Given the description of an element on the screen output the (x, y) to click on. 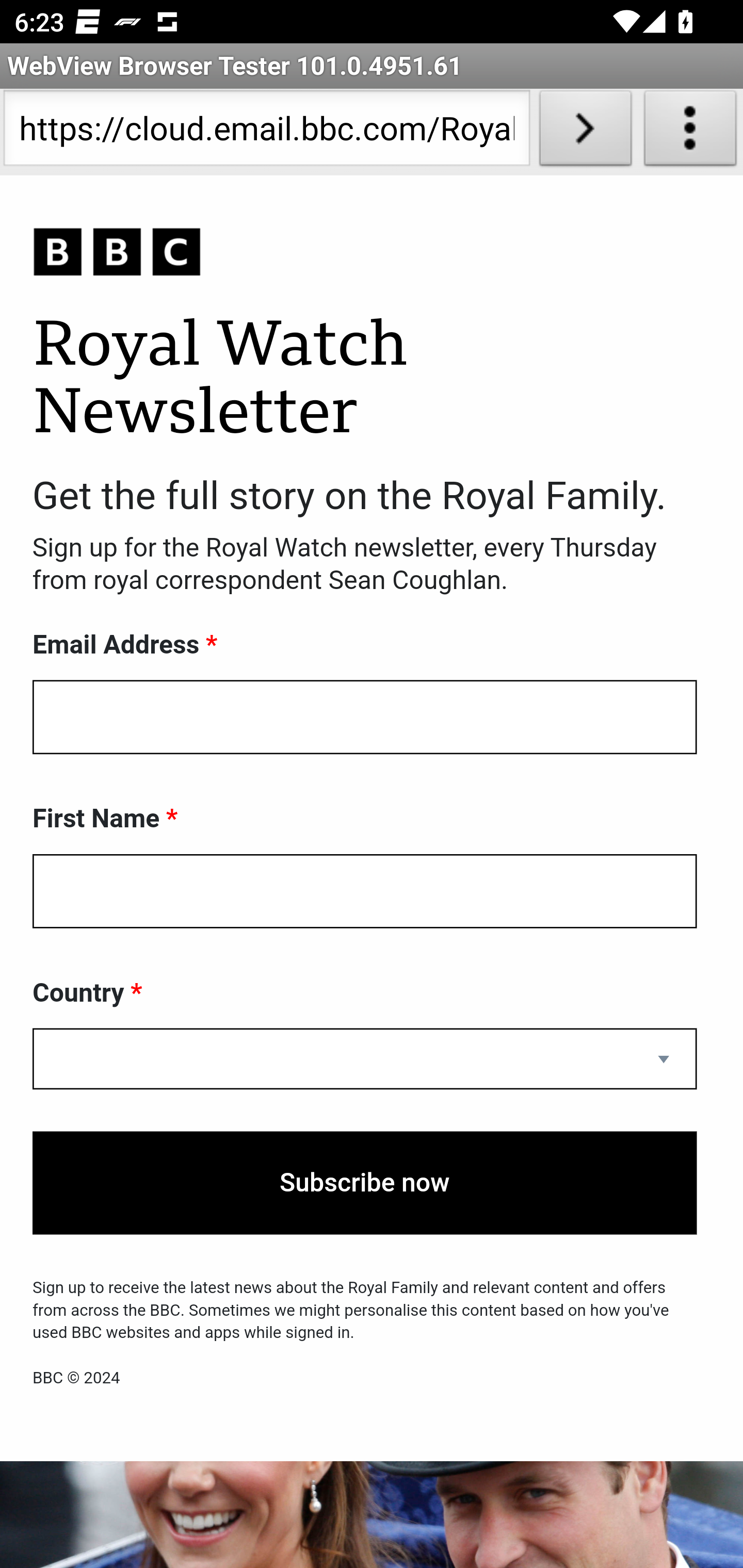
Load URL (585, 132)
About WebView (690, 132)
BBC (364, 253)
Subscribe now (364, 1182)
